Given the description of an element on the screen output the (x, y) to click on. 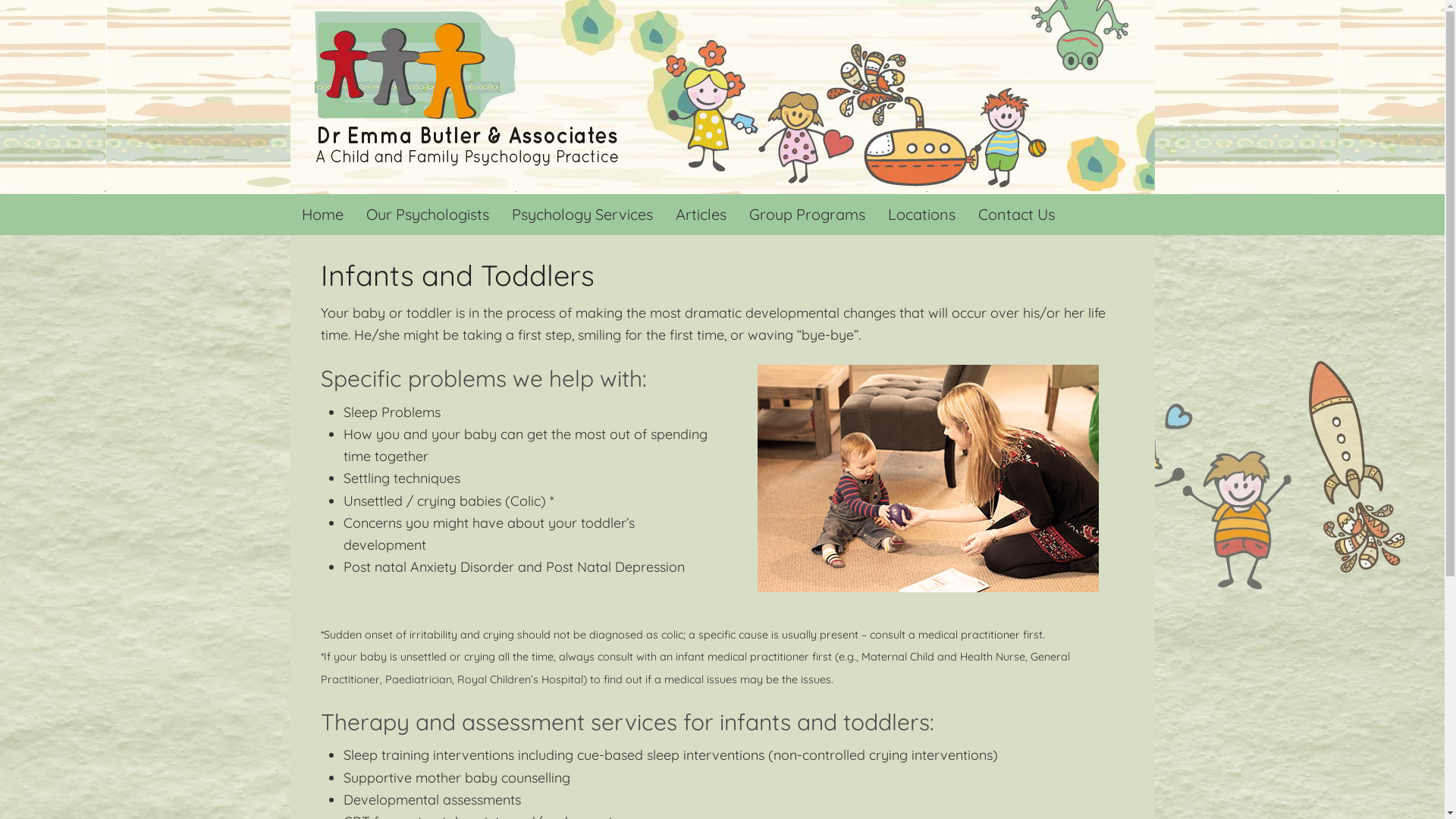
Contact Us Element type: text (1015, 214)
Locations Element type: text (921, 214)
Psychology Services Element type: text (582, 214)
Articles Element type: text (700, 214)
Home Element type: text (321, 214)
Group Programs Element type: text (806, 214)
Our Psychologists Element type: text (427, 214)
